Given the description of an element on the screen output the (x, y) to click on. 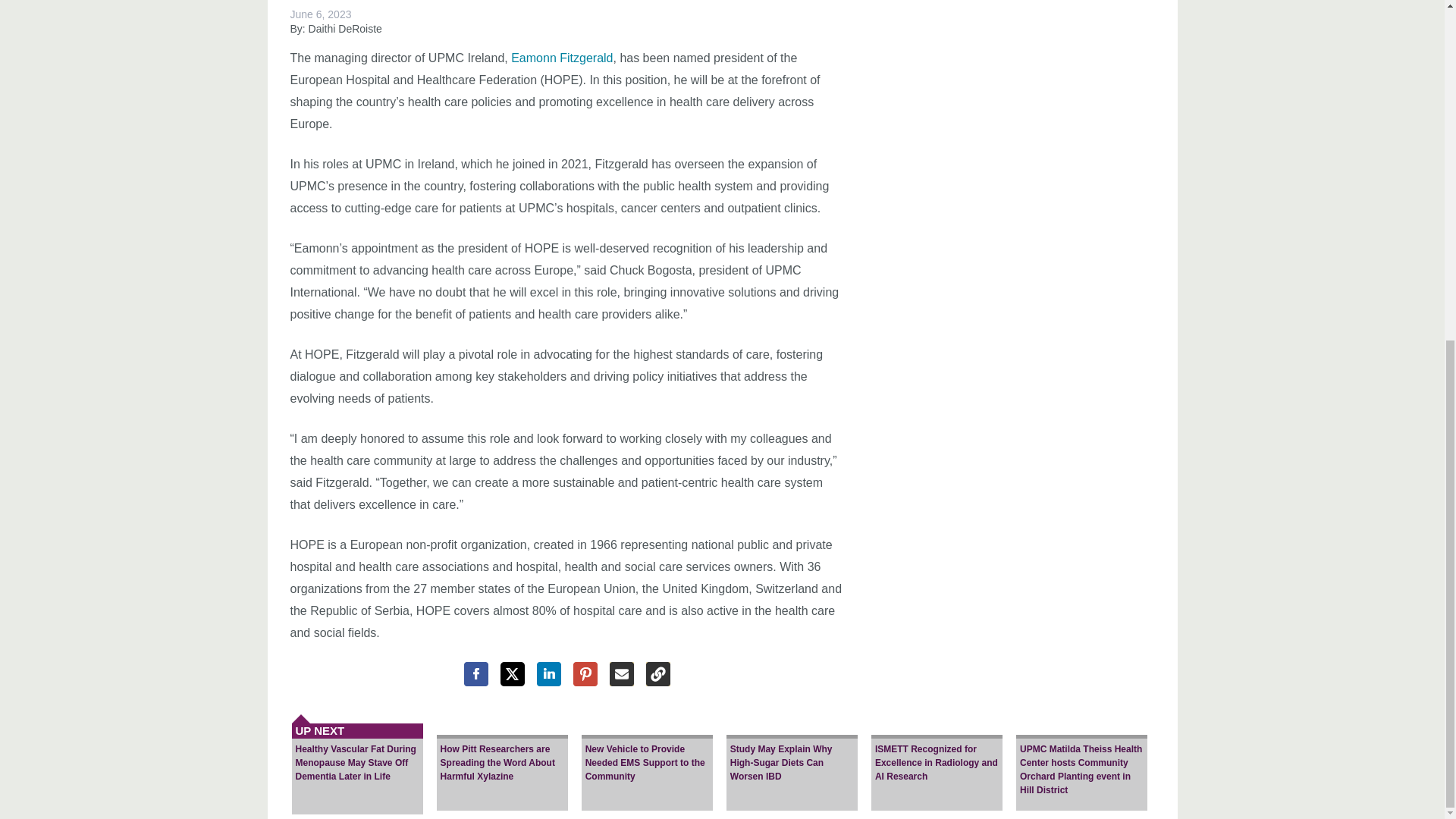
New Vehicle to Provide Needed EMS Support to the Community (646, 757)
Share on Facebook (475, 673)
Copy to clipboard (657, 673)
Share on Pinterest (584, 673)
Study May Explain Why High-Sugar Diets Can Worsen IBD (791, 757)
Share on LinkedIn (548, 673)
Forward via email (621, 673)
Eamonn Fitzgerald (561, 57)
